Given the description of an element on the screen output the (x, y) to click on. 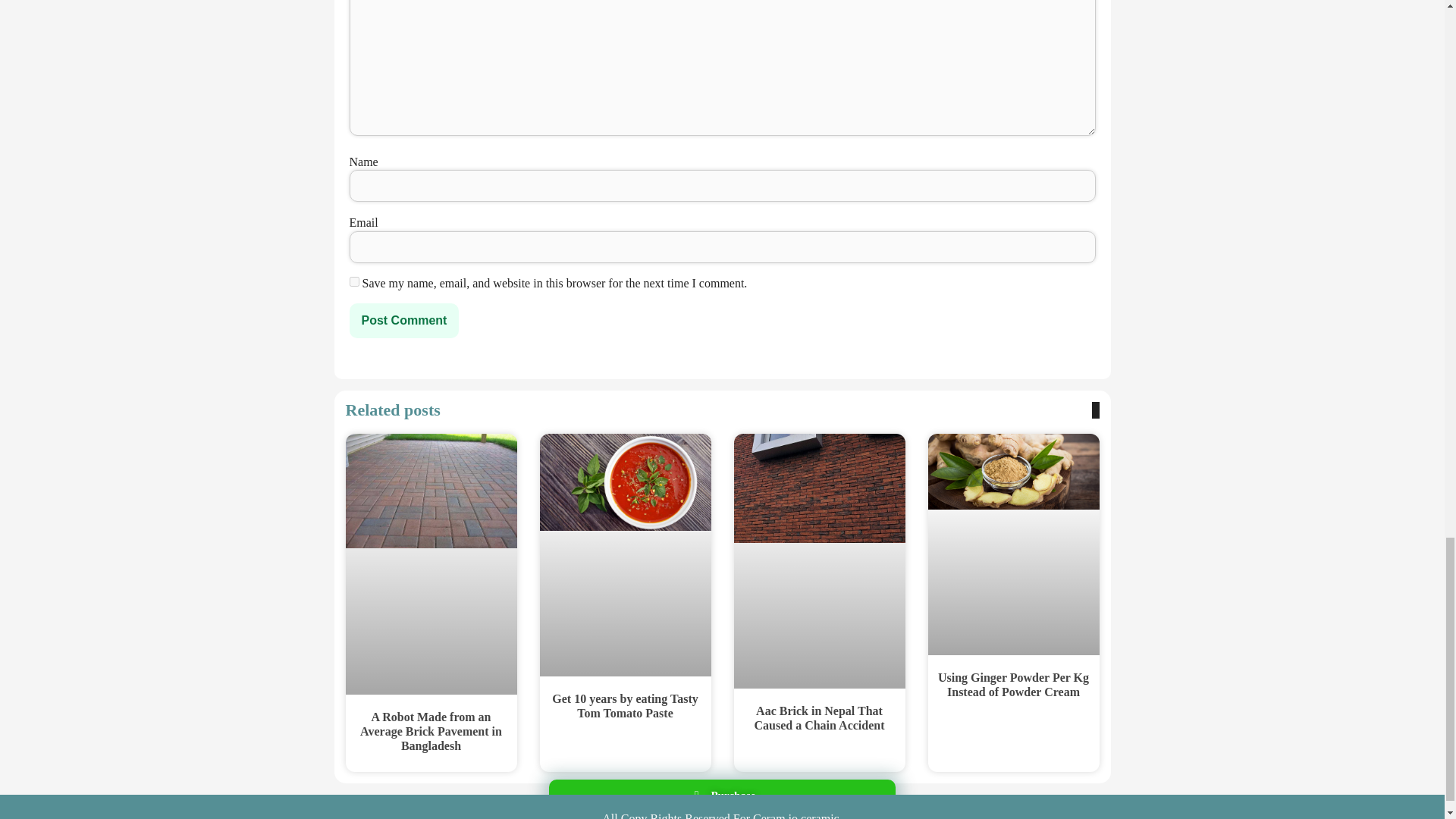
yes (353, 281)
Post Comment (403, 320)
Post Comment (403, 320)
Get 10 years by eating Tasty Tom Tomato Paste (624, 705)
Using Ginger Powder Per Kg Instead of Powder Cream (1013, 684)
A Robot Made from an Average Brick Pavement in Bangladesh (430, 731)
Aac Brick in Nepal That Caused a Chain Accident (818, 718)
